Given the description of an element on the screen output the (x, y) to click on. 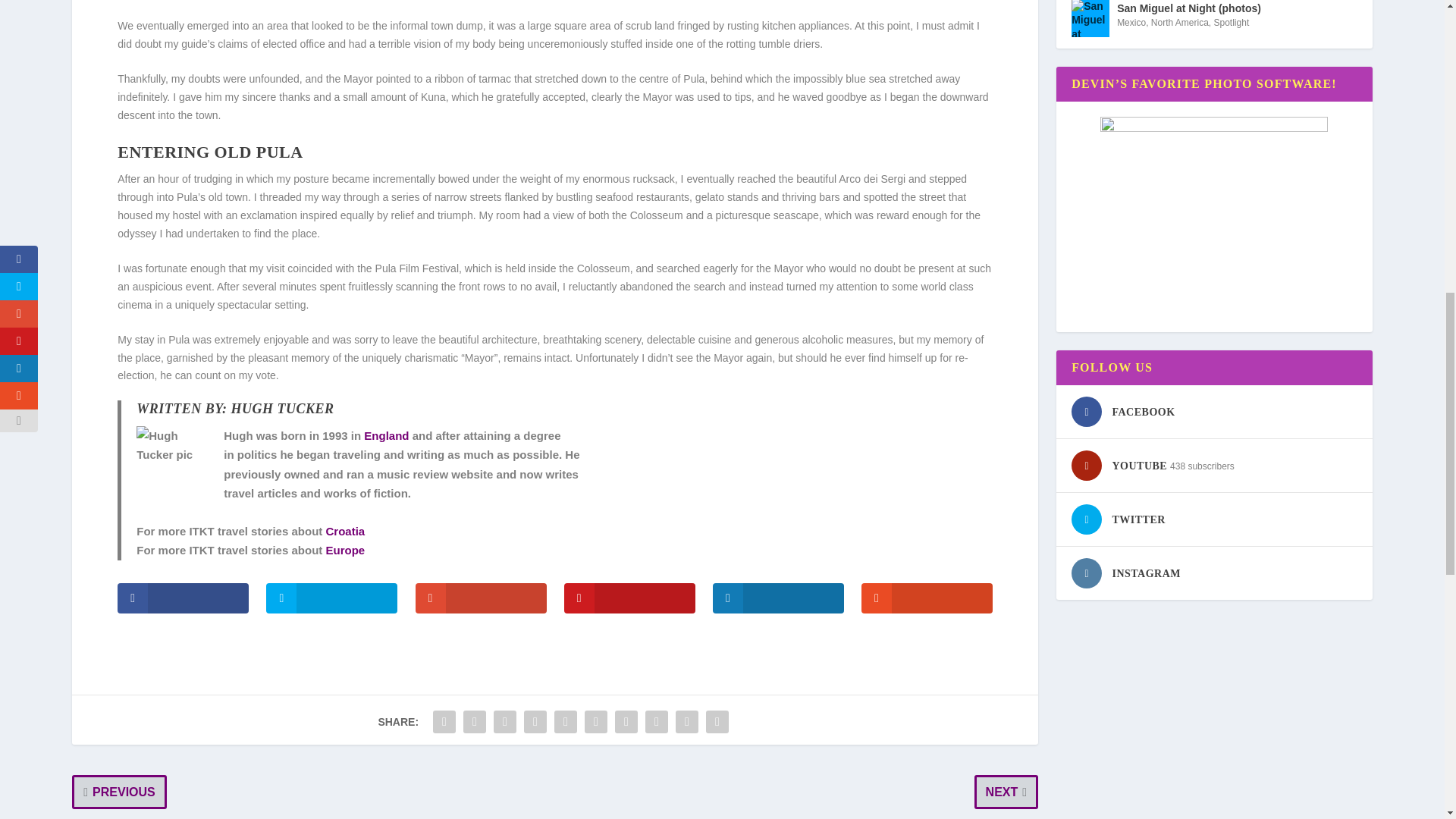
Share "The Mayor of Pula, Croatia" via Email (686, 721)
Share "The Mayor of Pula, Croatia" via Buffer (626, 721)
Share "The Mayor of Pula, Croatia" via Pinterest (565, 721)
Share "The Mayor of Pula, Croatia" via LinkedIn (595, 721)
Share "The Mayor of Pula, Croatia" via Print (716, 721)
Share "The Mayor of Pula, Croatia" via Facebook (444, 721)
Share "The Mayor of Pula, Croatia" via Twitter (474, 721)
Share "The Mayor of Pula, Croatia" via Tumblr (534, 721)
Share "The Mayor of Pula, Croatia" via Stumbleupon (656, 721)
